Given the description of an element on the screen output the (x, y) to click on. 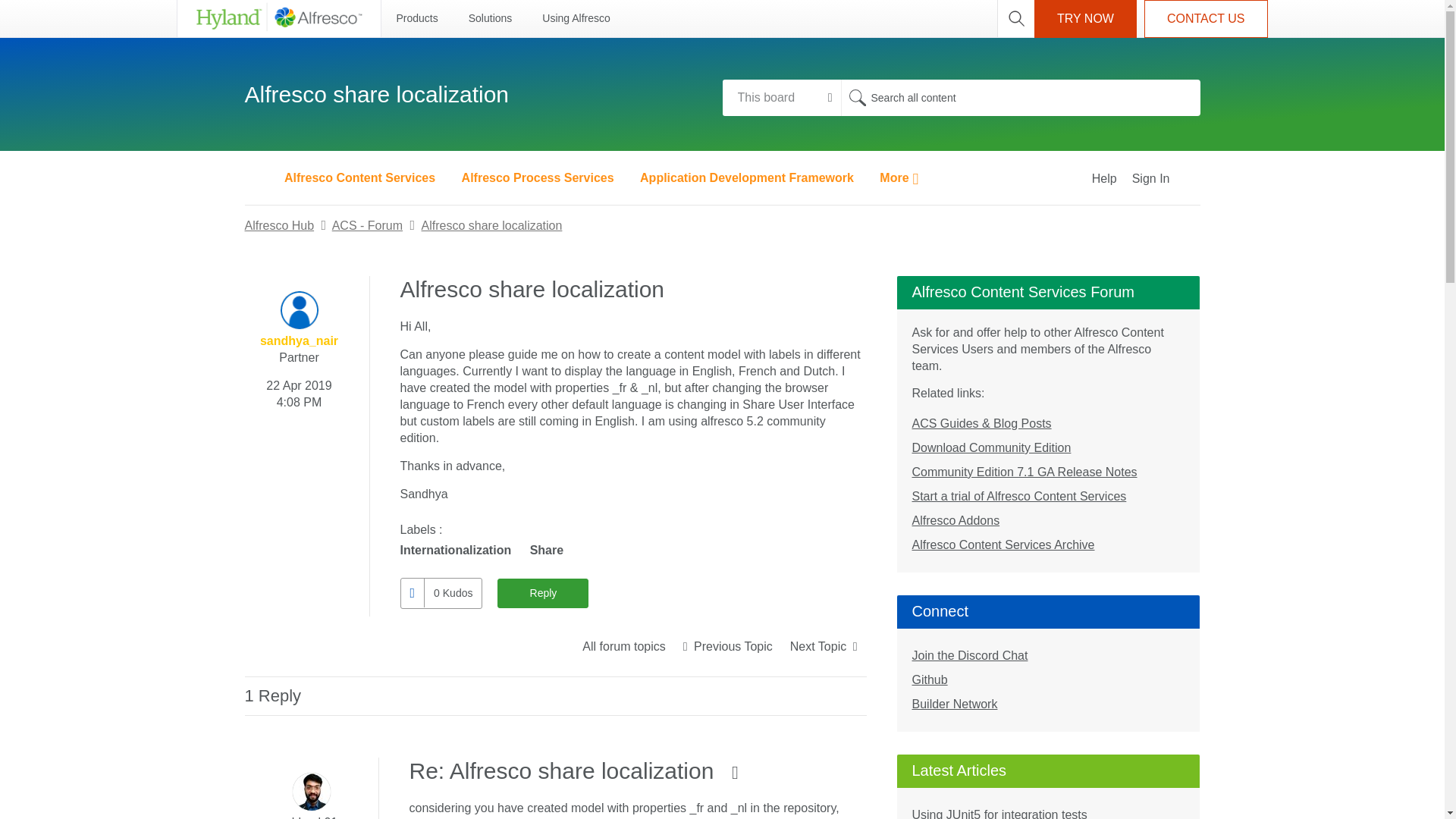
Using Alfresco (575, 18)
CONTACT US (1206, 18)
Community (256, 177)
Solutions (489, 18)
Alfresco Process Services (537, 177)
Search (856, 97)
Posted on (298, 390)
Alfresco (278, 18)
Search (856, 97)
Products (416, 18)
Help (1104, 177)
Sign In (1167, 177)
Search (856, 97)
Search (1019, 97)
Alfresco Content Services (359, 177)
